Given the description of an element on the screen output the (x, y) to click on. 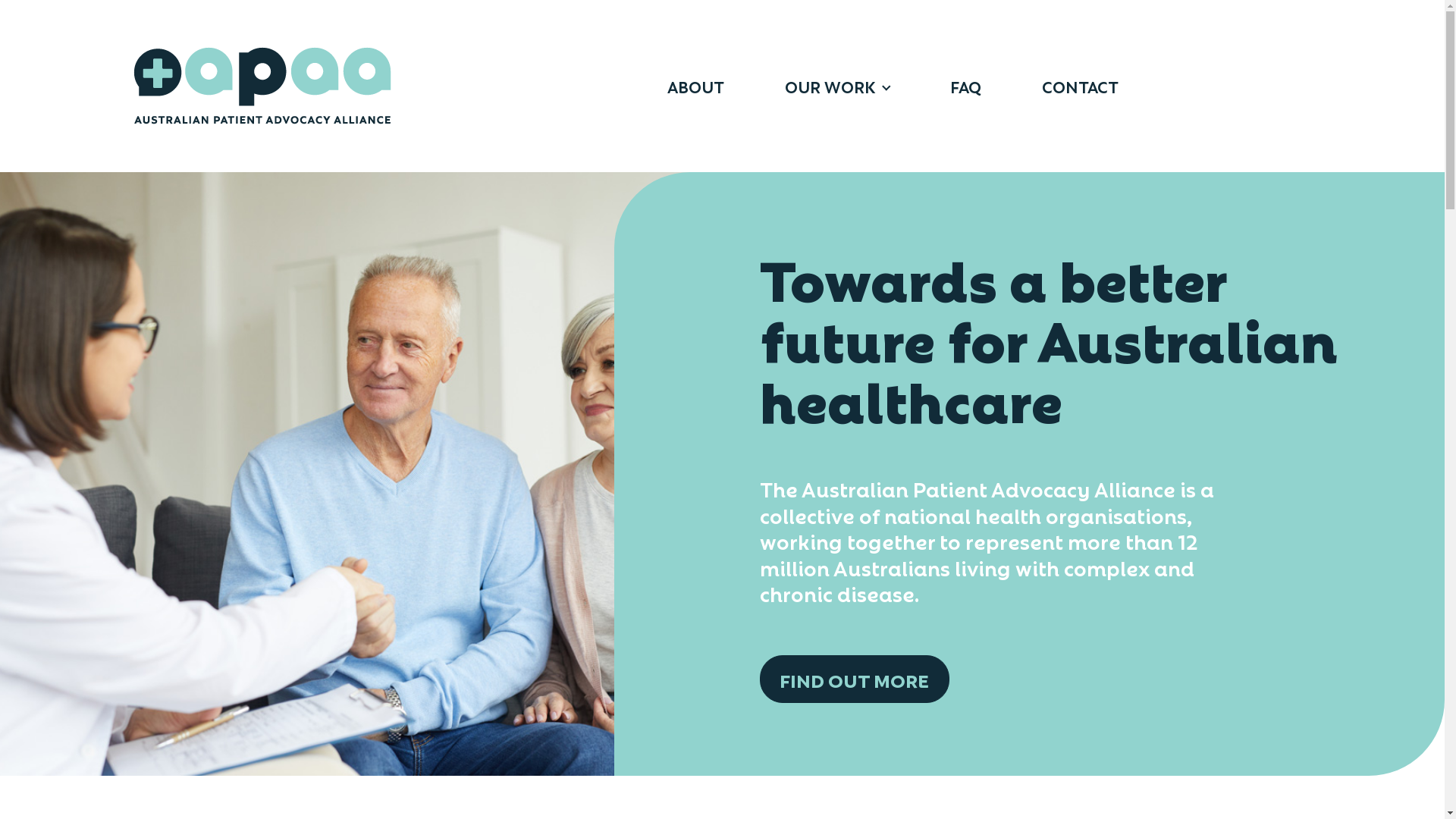
FIND OUT MORE Element type: text (854, 679)
FAQ Element type: text (965, 86)
OUR WORK Element type: text (836, 86)
ABOUT Element type: text (695, 86)
CONTACT Element type: text (1079, 86)
